Given the description of an element on the screen output the (x, y) to click on. 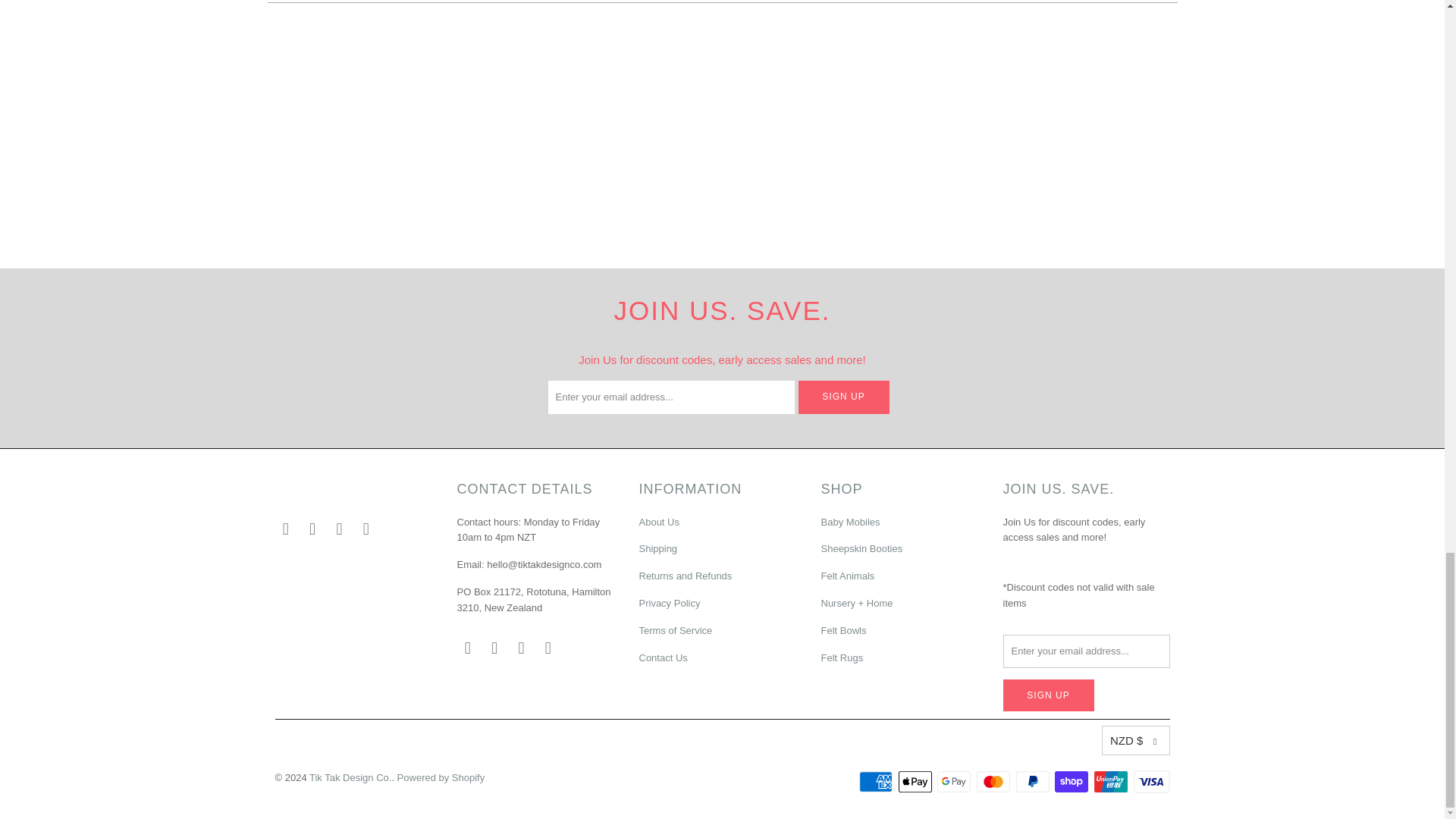
Sign Up (842, 397)
Sign Up (1048, 695)
Mastercard (994, 781)
Tik Tak Design Co. on Facebook (286, 529)
Shop Pay (1072, 781)
Visa (1150, 781)
Google Pay (955, 781)
American Express (877, 781)
Apple Pay (916, 781)
PayPal (1034, 781)
